Given the description of an element on the screen output the (x, y) to click on. 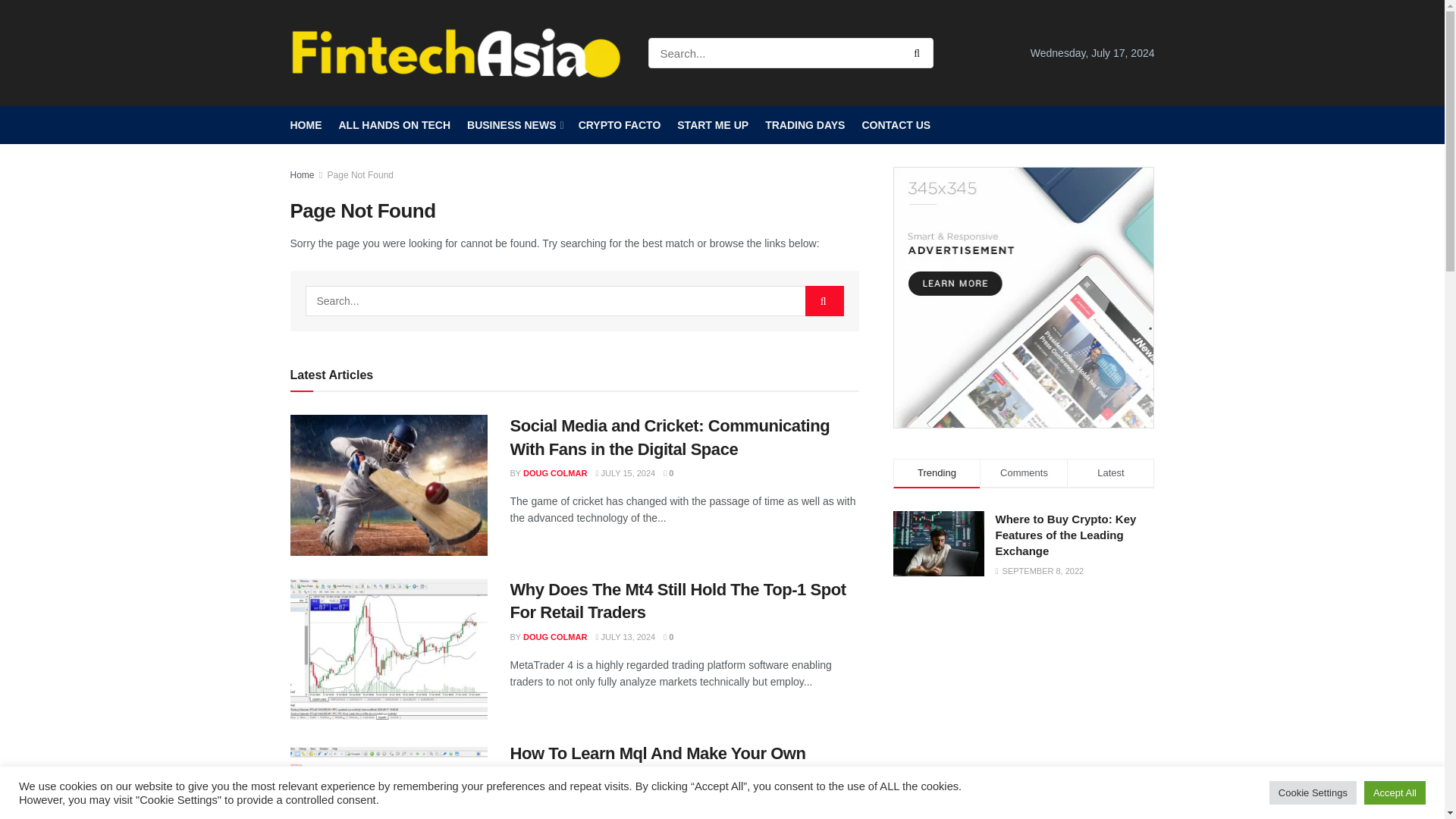
HOME (305, 125)
Page Not Found (360, 174)
CRYPTO FACTO (619, 125)
START ME UP (712, 125)
DOUG COLMAR (554, 636)
BUSINESS NEWS (514, 125)
Home (301, 174)
JULY 13, 2024 (625, 636)
DOUG COLMAR (554, 472)
ALL HANDS ON TECH (393, 125)
TRADING DAYS (804, 125)
0 (667, 472)
JULY 15, 2024 (625, 472)
